Given the description of an element on the screen output the (x, y) to click on. 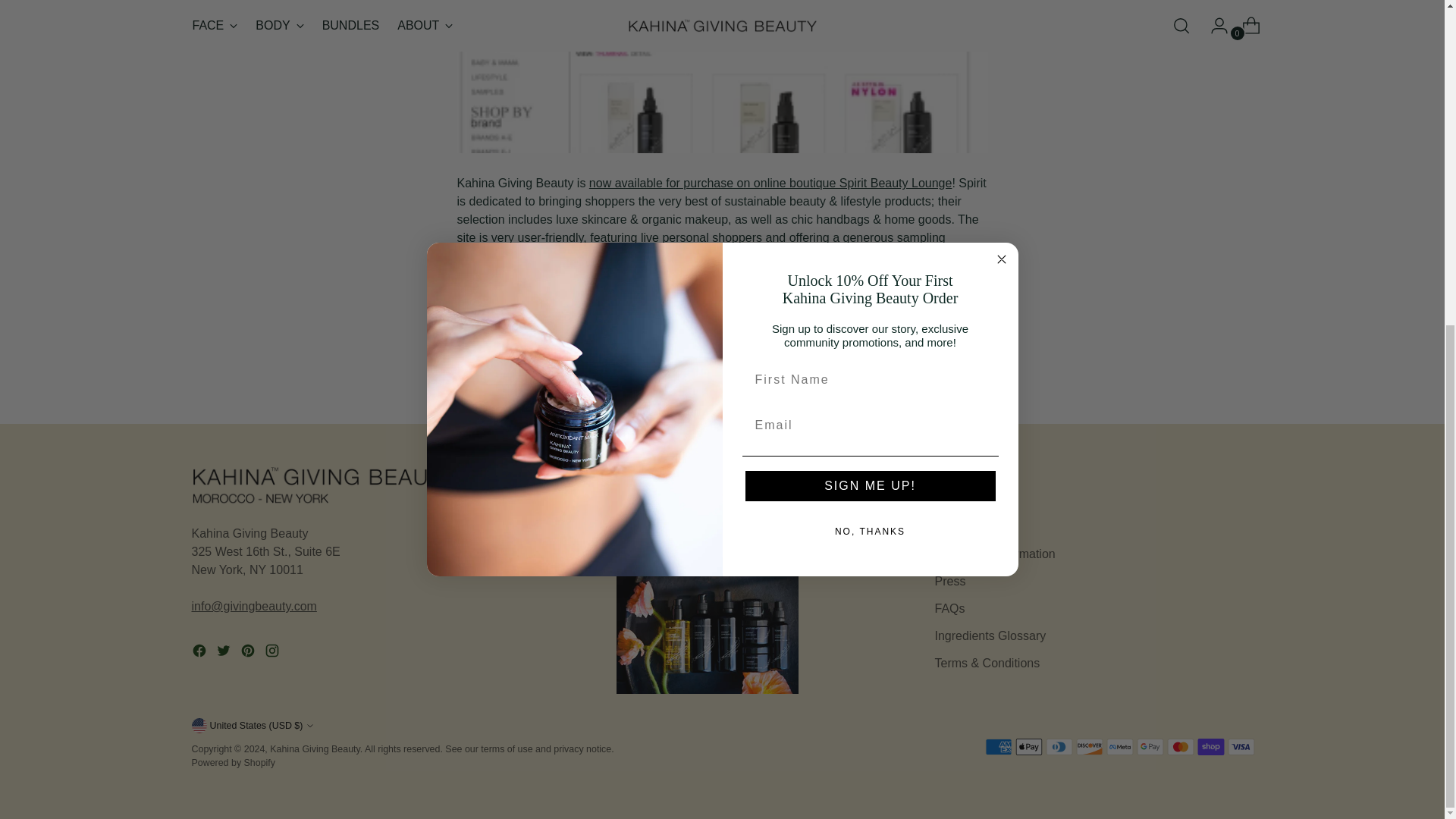
Wholesale Information (691, 535)
Kahina Giving Beauty Mask (574, 21)
Kahina Giving Beauty on Instagram (272, 652)
Kahina Giving Beauty on Pinterest (248, 652)
Kahina Giving Beauty on Facebook (199, 652)
spirit-beauty-lounge-kahina-launch (722, 76)
Kahina Giving Beauty on Twitter (223, 652)
